Given the description of an element on the screen output the (x, y) to click on. 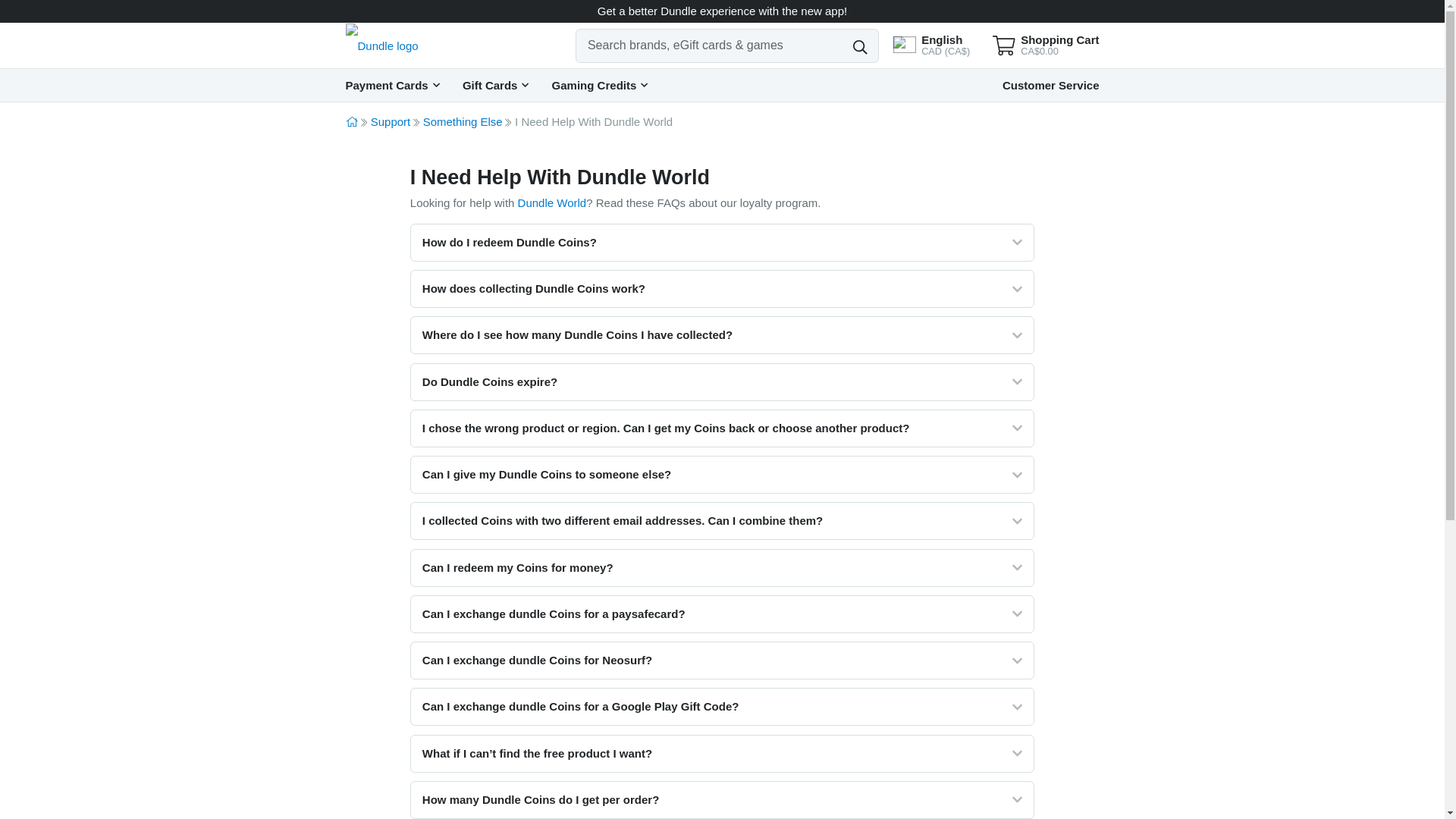
Support (390, 121)
Can I exchange dundle Coins for Neosurf? (721, 660)
Something Else (462, 121)
Can I redeem my Coins for money? (721, 567)
Where do I see how many Dundle Coins I have collected? (721, 334)
How many Dundle Coins do I get per order? (721, 800)
How does collecting Dundle Coins work? (721, 289)
Gaming Credits (599, 84)
Can I give my Dundle Coins to someone else? (721, 474)
Can I exchange dundle Coins for a Google Play Gift Code? (721, 706)
Payment Cards (392, 84)
Do Dundle Coins expire? (721, 381)
Dundle World (552, 202)
